Given the description of an element on the screen output the (x, y) to click on. 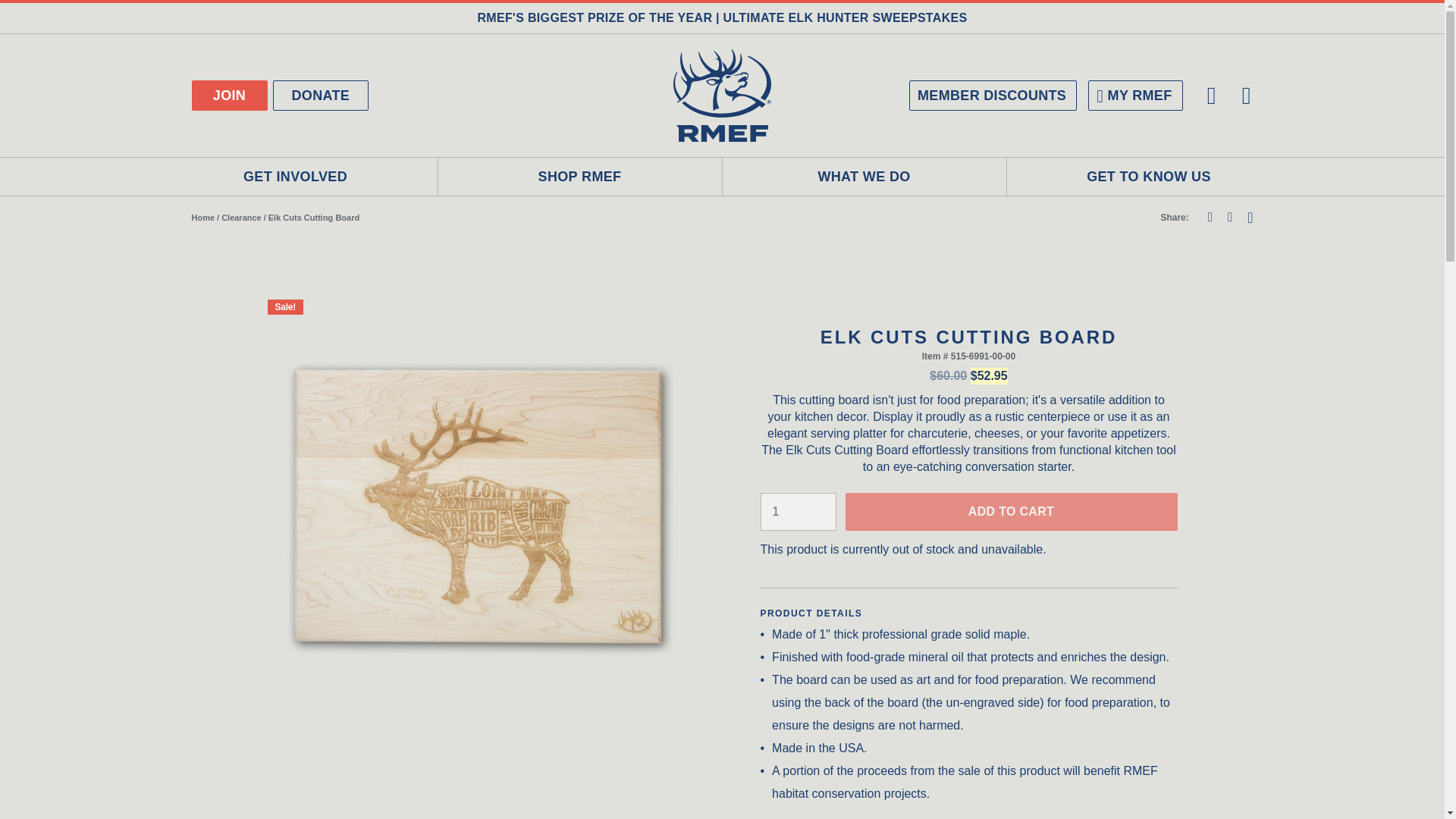
JOIN (228, 95)
DONATE (321, 95)
MY RMEF (1134, 95)
GET TO KNOW US (1149, 176)
GET INVOLVED (295, 176)
MEMBER DISCOUNTS (992, 95)
1 (797, 511)
SHOP RMEF (580, 176)
WHAT WE DO (864, 176)
